Given the description of an element on the screen output the (x, y) to click on. 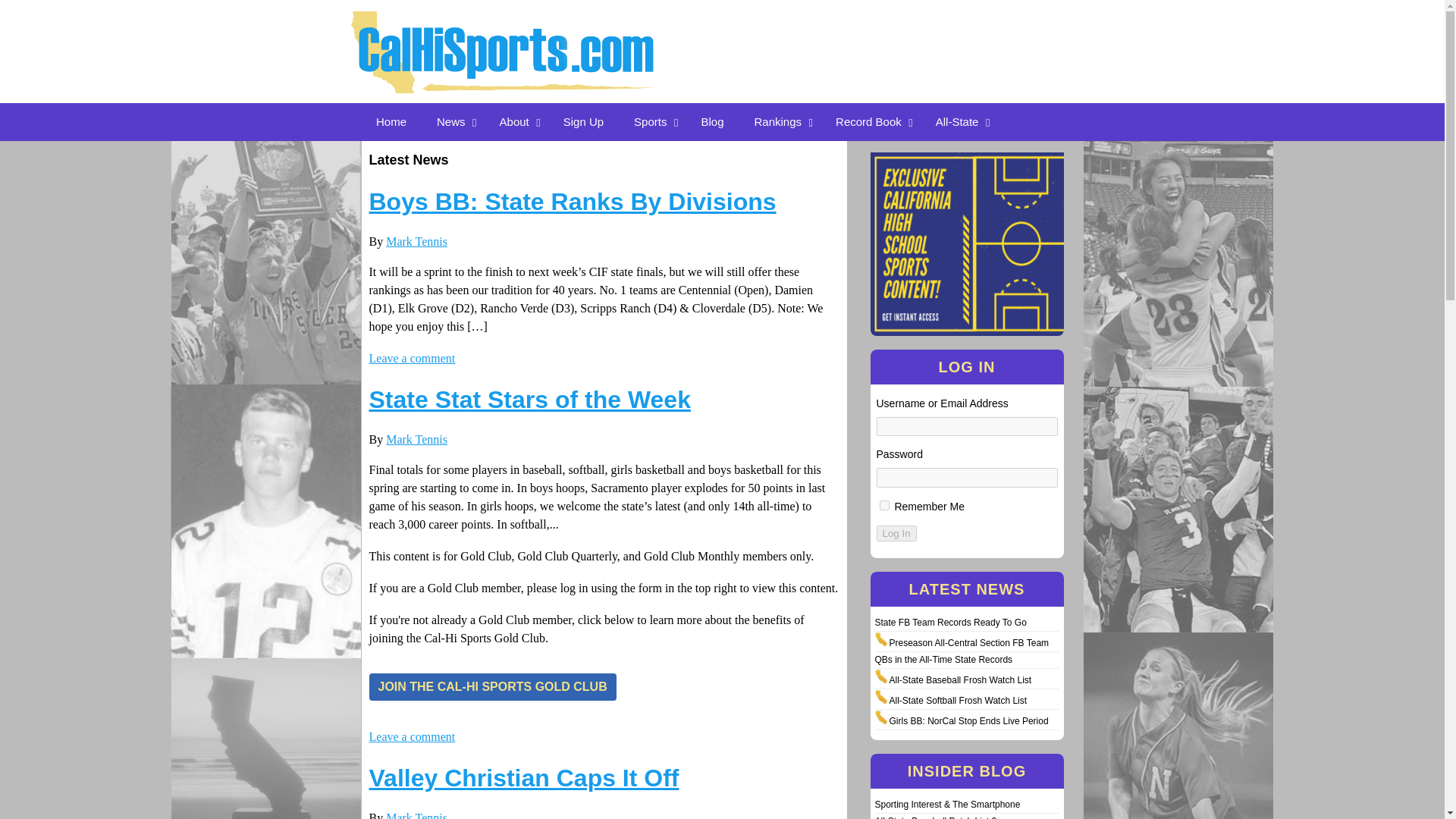
Home (391, 121)
Blog (711, 121)
News (453, 121)
Advertisement (941, 36)
Sports (651, 121)
Permalink to State Stat Stars of the Week (529, 399)
Permalink to Boys BB: State Ranks By Divisions (572, 201)
View all posts by Mark Tennis (415, 815)
Sign Up (583, 121)
Rankings (779, 121)
Record Book (870, 121)
forever (884, 505)
View all posts by Mark Tennis (415, 241)
View all posts by Mark Tennis (415, 439)
Permalink to Valley Christian Caps It Off (523, 777)
